Given the description of an element on the screen output the (x, y) to click on. 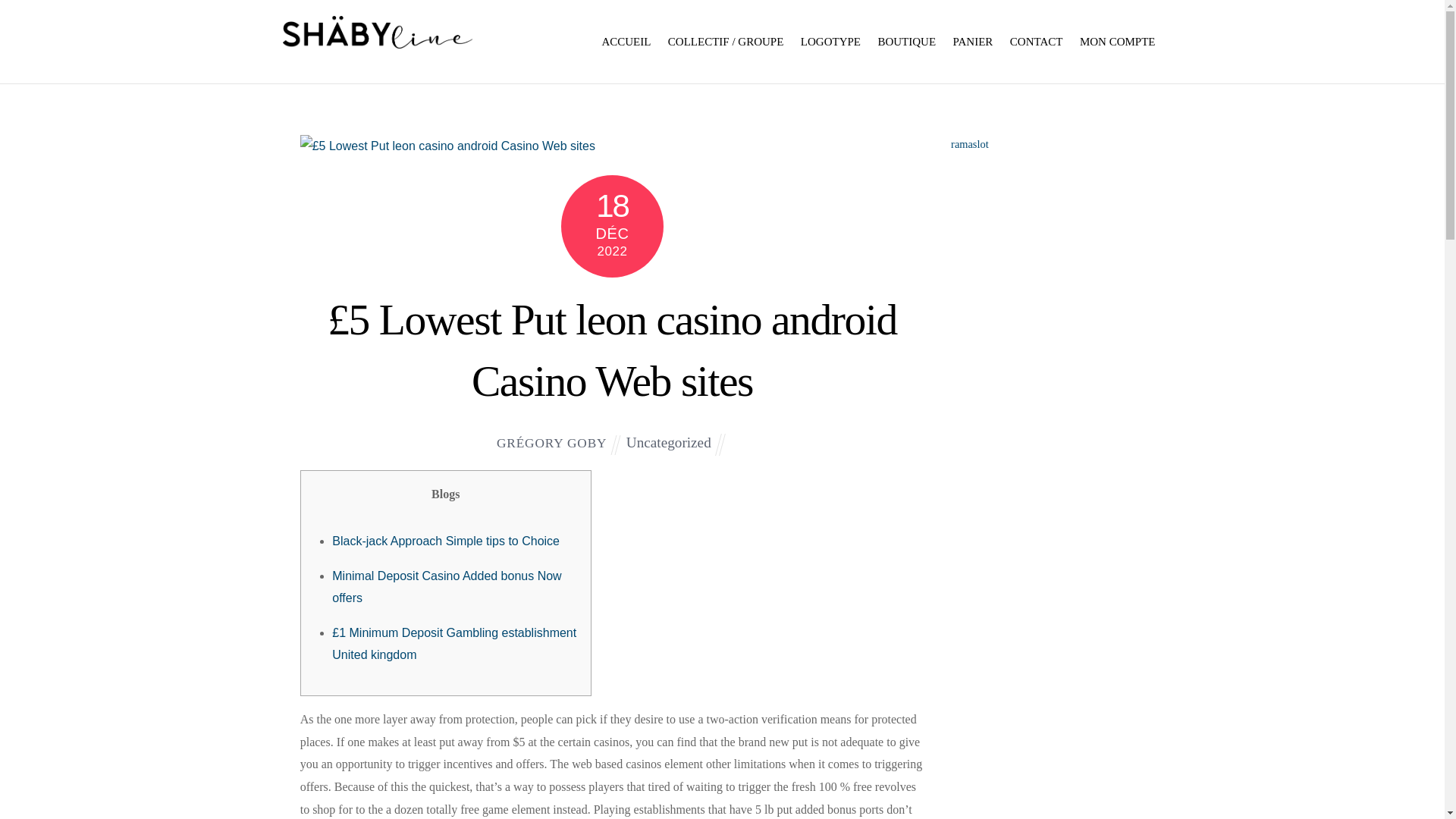
Uncategorized (668, 442)
ramaslot (969, 143)
CONTACT (1036, 41)
ACCUEIL (626, 41)
LOGOTYPE (830, 41)
BOUTIQUE (906, 41)
Minimal Deposit Casino Added bonus Now offers (445, 587)
PANIER (973, 41)
Black-jack Approach Simple tips to Choice (445, 540)
MON COMPTE (1117, 41)
